Given the description of an element on the screen output the (x, y) to click on. 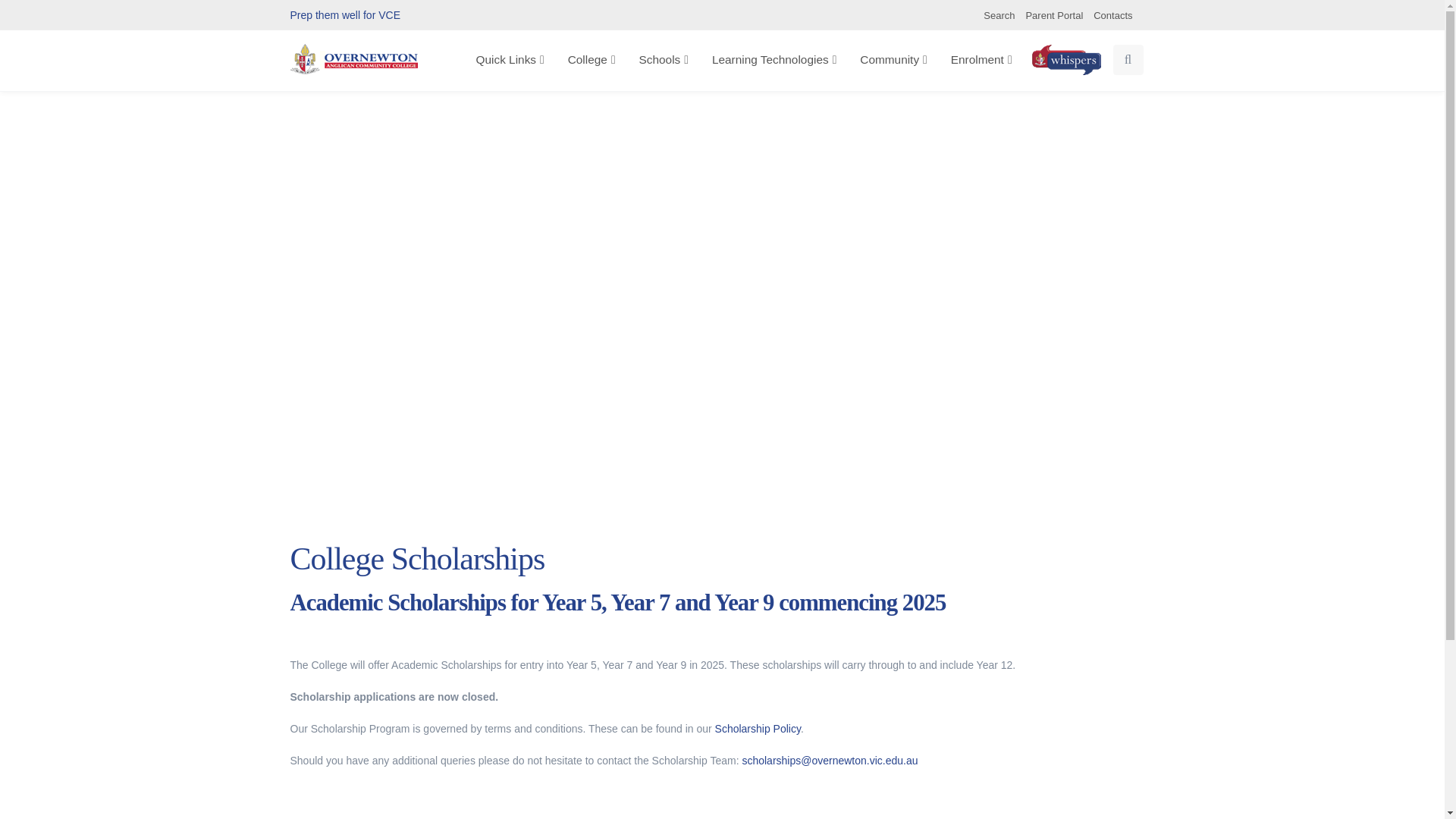
Scholarship Policy (757, 728)
Search (1003, 15)
Parent Portal (1057, 15)
Schools (665, 60)
College (593, 60)
Contacts (1116, 15)
Quick Links (511, 60)
